Given the description of an element on the screen output the (x, y) to click on. 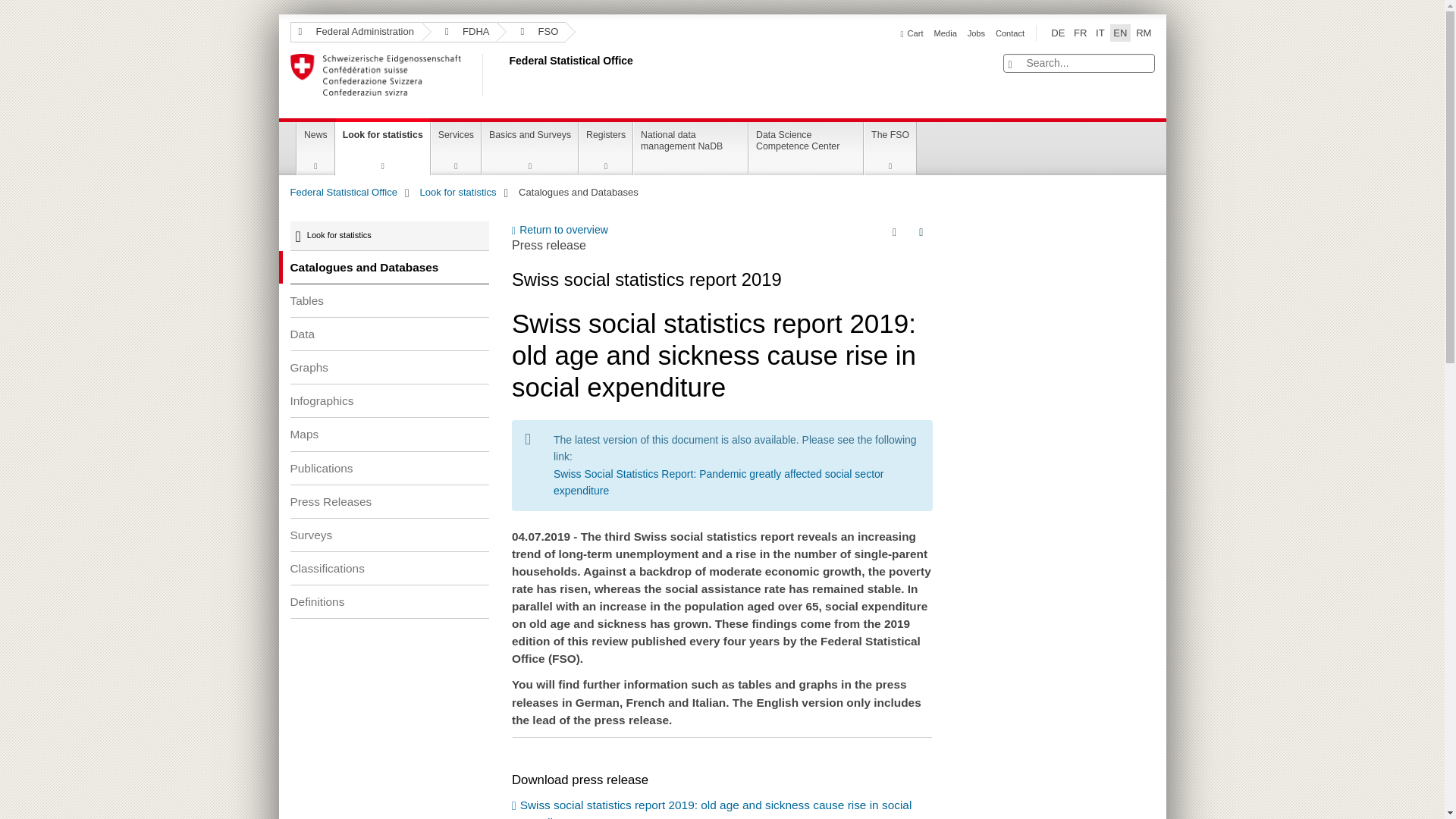
FDHA (459, 32)
DE (1057, 32)
German (1057, 32)
Contact (1010, 32)
Jobs (976, 32)
Media (945, 32)
French (1079, 32)
EN (1119, 32)
RM (1143, 32)
FR (1079, 32)
